Given the description of an element on the screen output the (x, y) to click on. 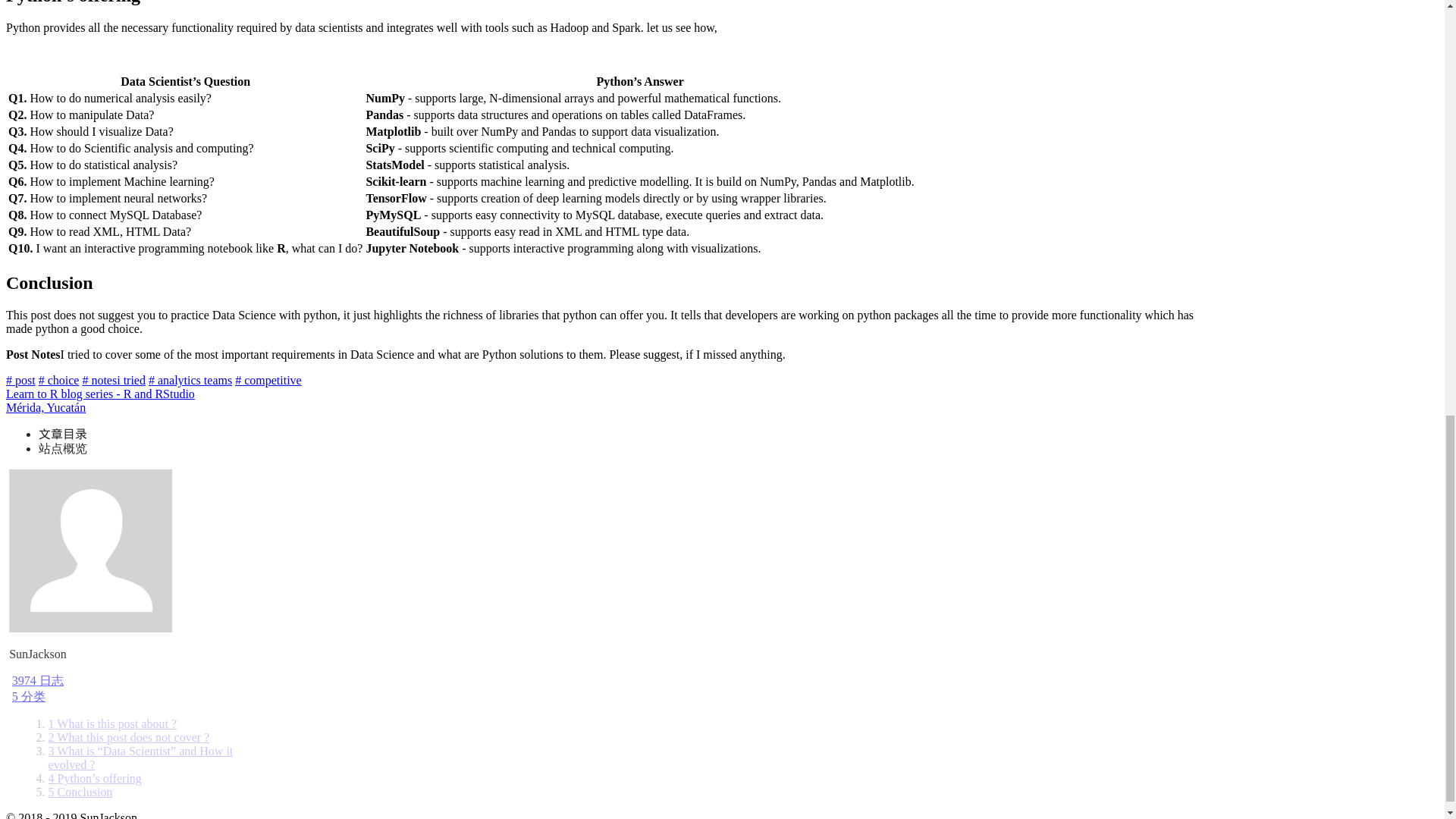
1 What is this post about ? (112, 723)
Learn to R blog series - R and RStudio (100, 393)
5 Conclusion (80, 791)
Learn to R blog series - R and RStudio (100, 393)
2 What this post does not cover ? (128, 737)
